Given the description of an element on the screen output the (x, y) to click on. 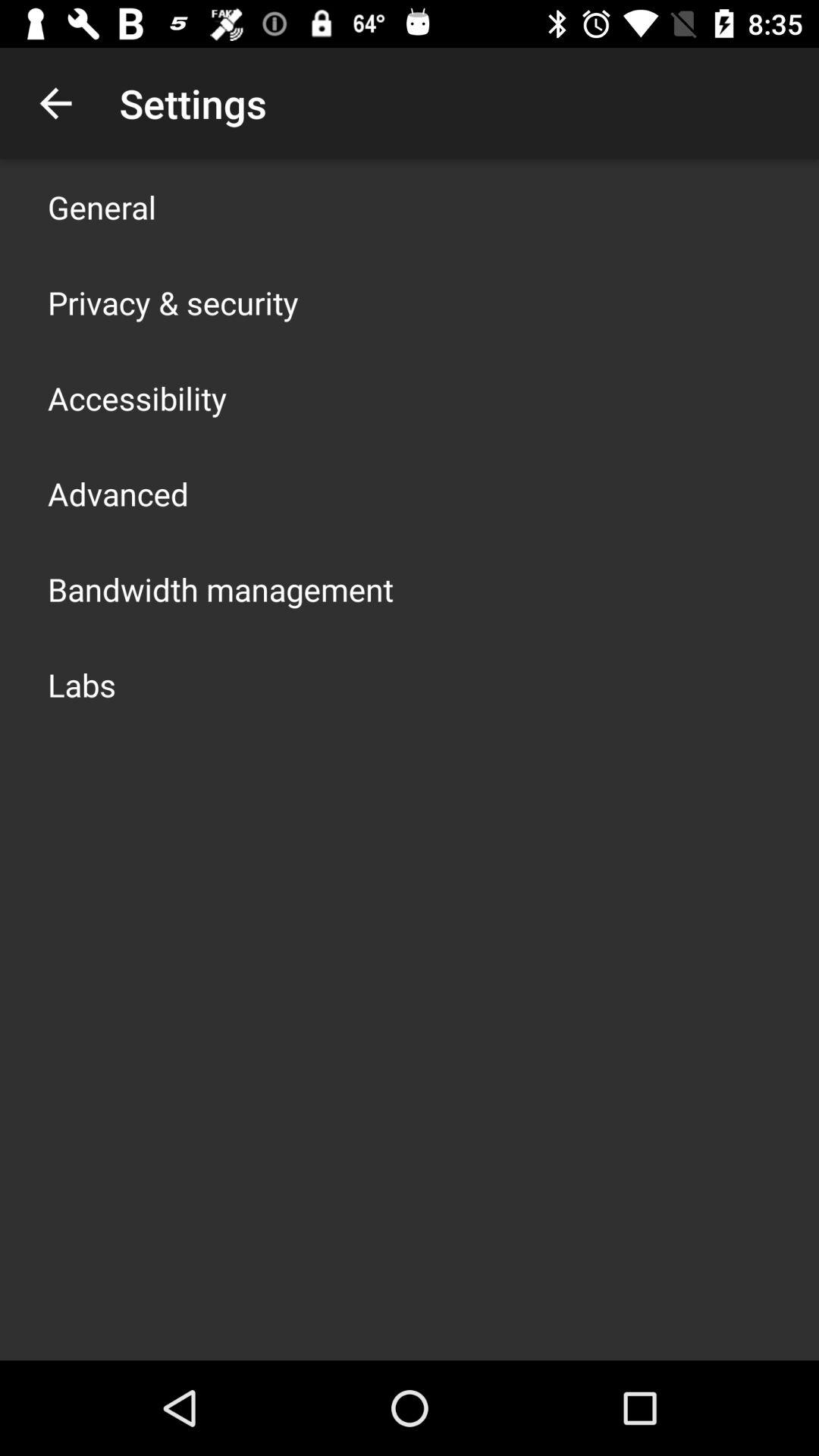
flip until the privacy & security app (172, 302)
